Given the description of an element on the screen output the (x, y) to click on. 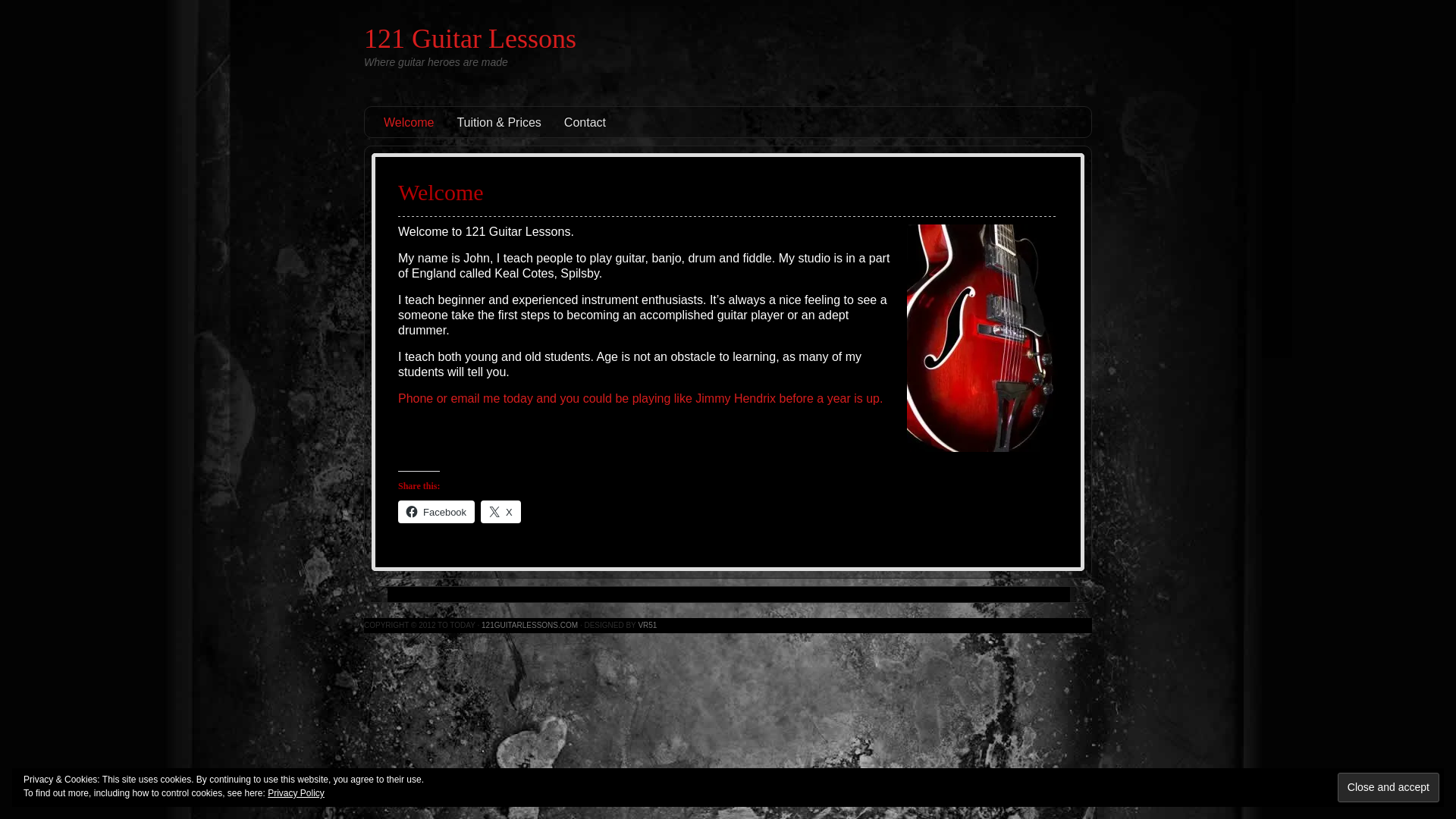
VR51 Element type: text (646, 625)
121 Guitar Lessons Element type: text (470, 38)
Privacy Policy Element type: text (295, 792)
Tuition & Prices Element type: text (498, 121)
Facebook Element type: text (436, 511)
red-guitar Element type: hover (981, 337)
Close and accept Element type: text (1388, 787)
X Element type: text (500, 511)
121GUITARLESSONS.COM Element type: text (529, 625)
Welcome Element type: text (408, 121)
Contact Element type: text (584, 121)
